Given the description of an element on the screen output the (x, y) to click on. 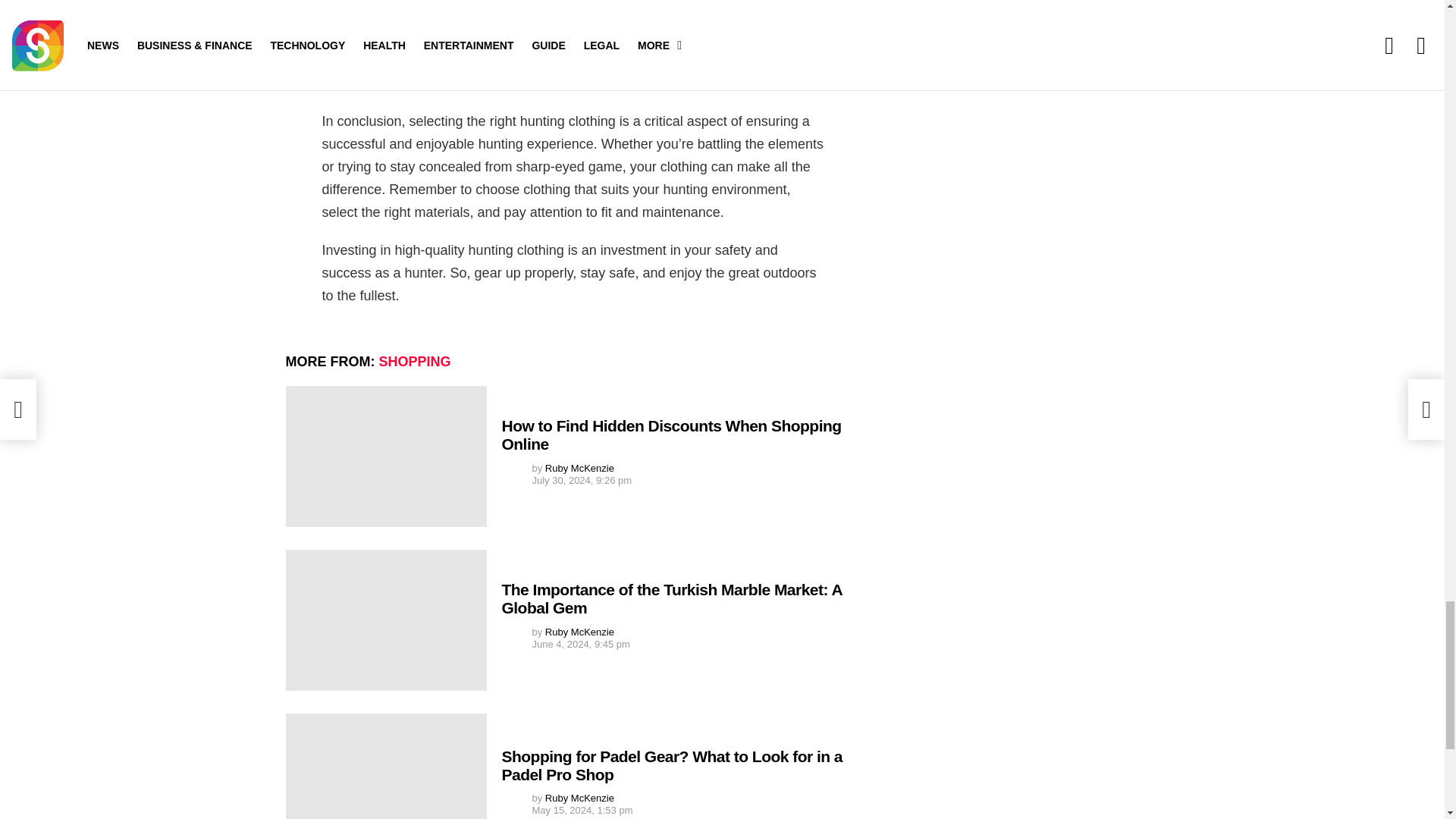
Posts by Ruby McKenzie (579, 468)
How to Find Hidden Discounts When Shopping Online (671, 434)
Posts by Ruby McKenzie (579, 632)
Posts by Ruby McKenzie (579, 797)
The Importance of the Turkish Marble Market: A Global Gem (385, 620)
The Importance of the Turkish Marble Market: A Global Gem (672, 598)
SHOPPING (414, 361)
How to Find Hidden Discounts When Shopping Online (385, 456)
Ruby McKenzie (579, 468)
Ruby McKenzie (579, 632)
Ruby McKenzie (579, 797)
